Given the description of an element on the screen output the (x, y) to click on. 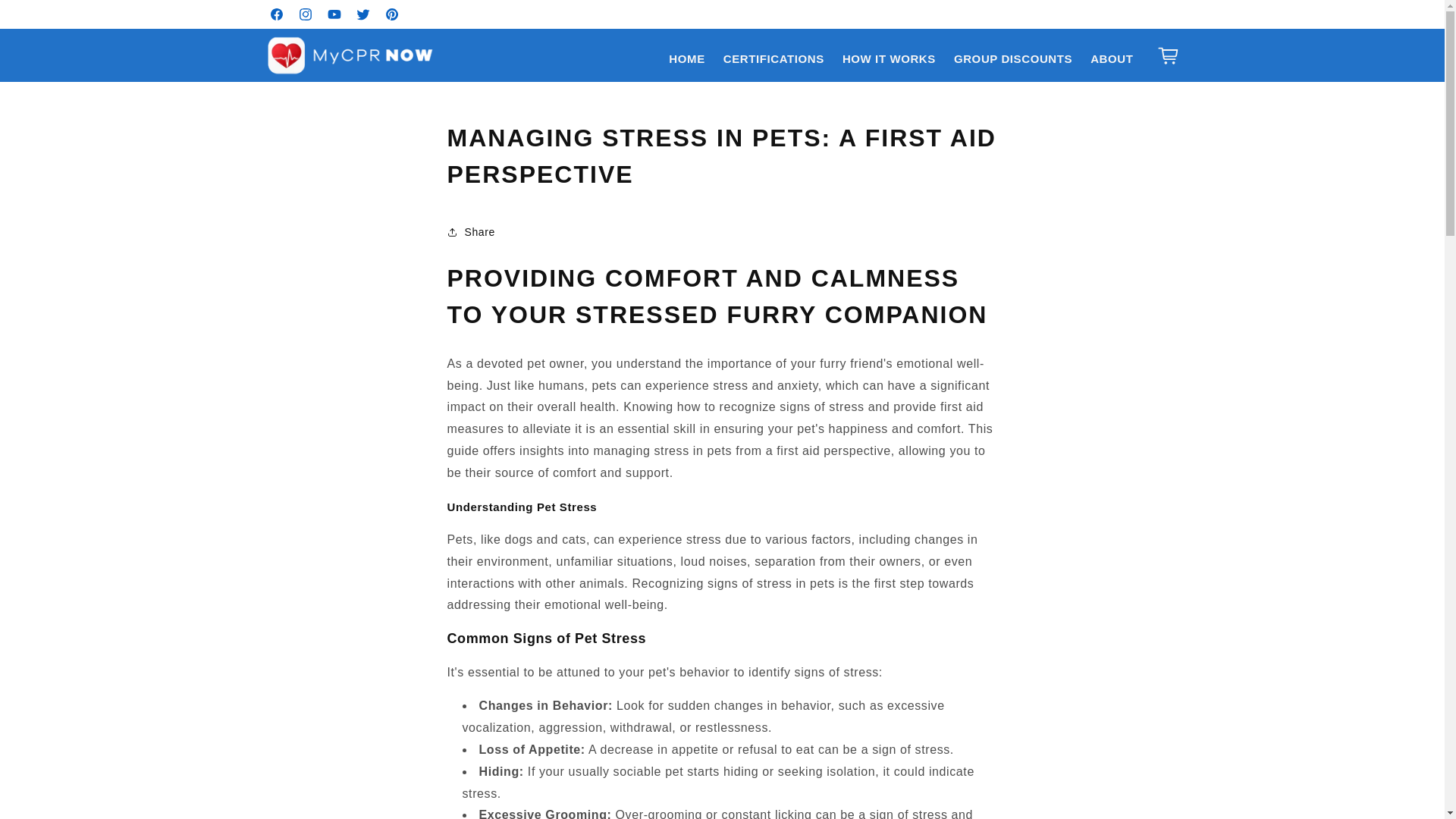
Twitter (363, 14)
Facebook (276, 14)
Cart (1168, 55)
Instagram (305, 14)
Skip to content (45, 17)
Pinterest (391, 14)
YouTube (334, 14)
GROUP DISCOUNTS (1012, 59)
ABOUT (1111, 59)
HOME (686, 59)
HOW IT WORKS (888, 59)
CERTIFICATIONS (773, 59)
